Given the description of an element on the screen output the (x, y) to click on. 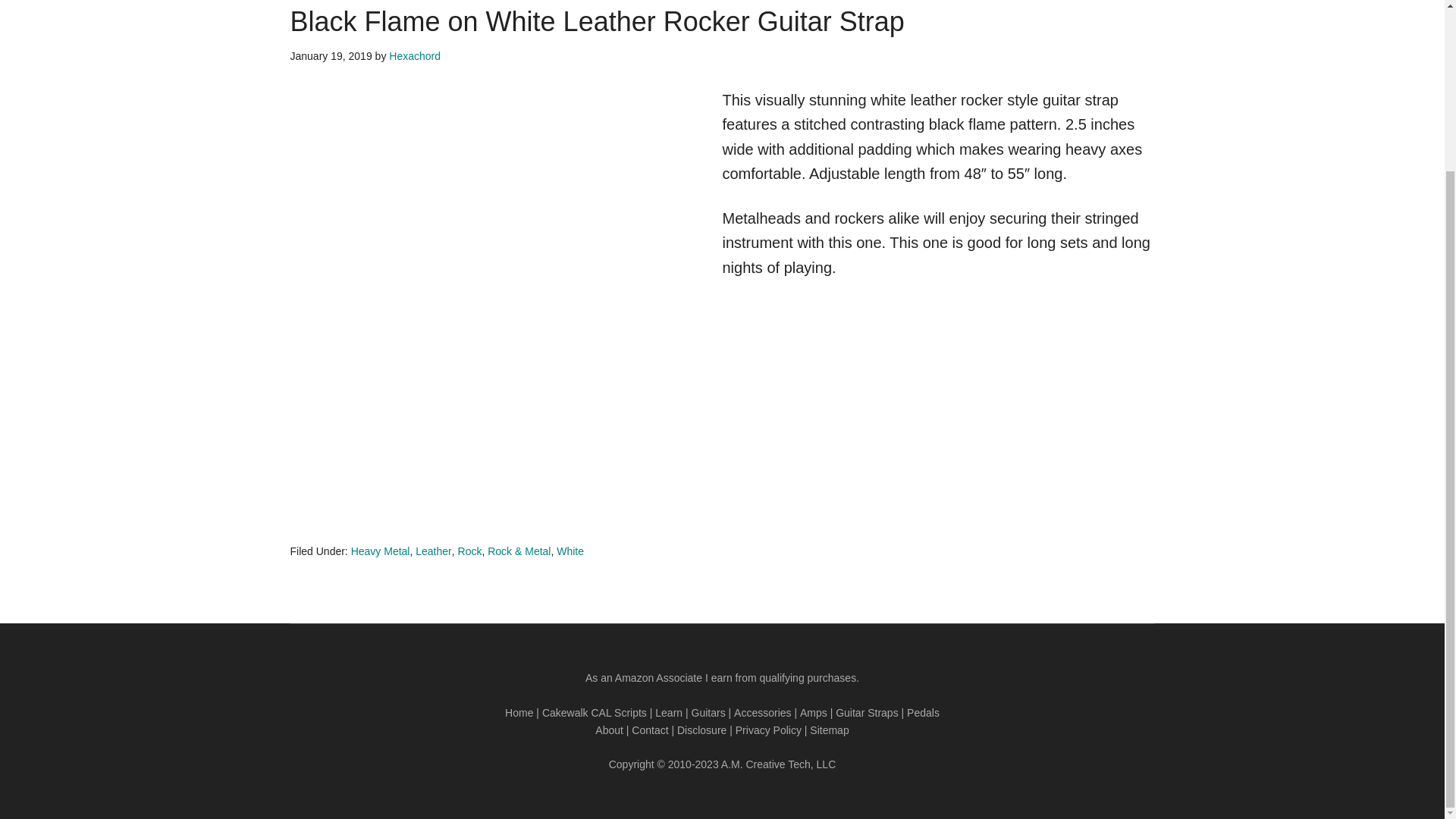
Heavy Metal (380, 551)
Leather (432, 551)
Hexachord (414, 55)
